Given the description of an element on the screen output the (x, y) to click on. 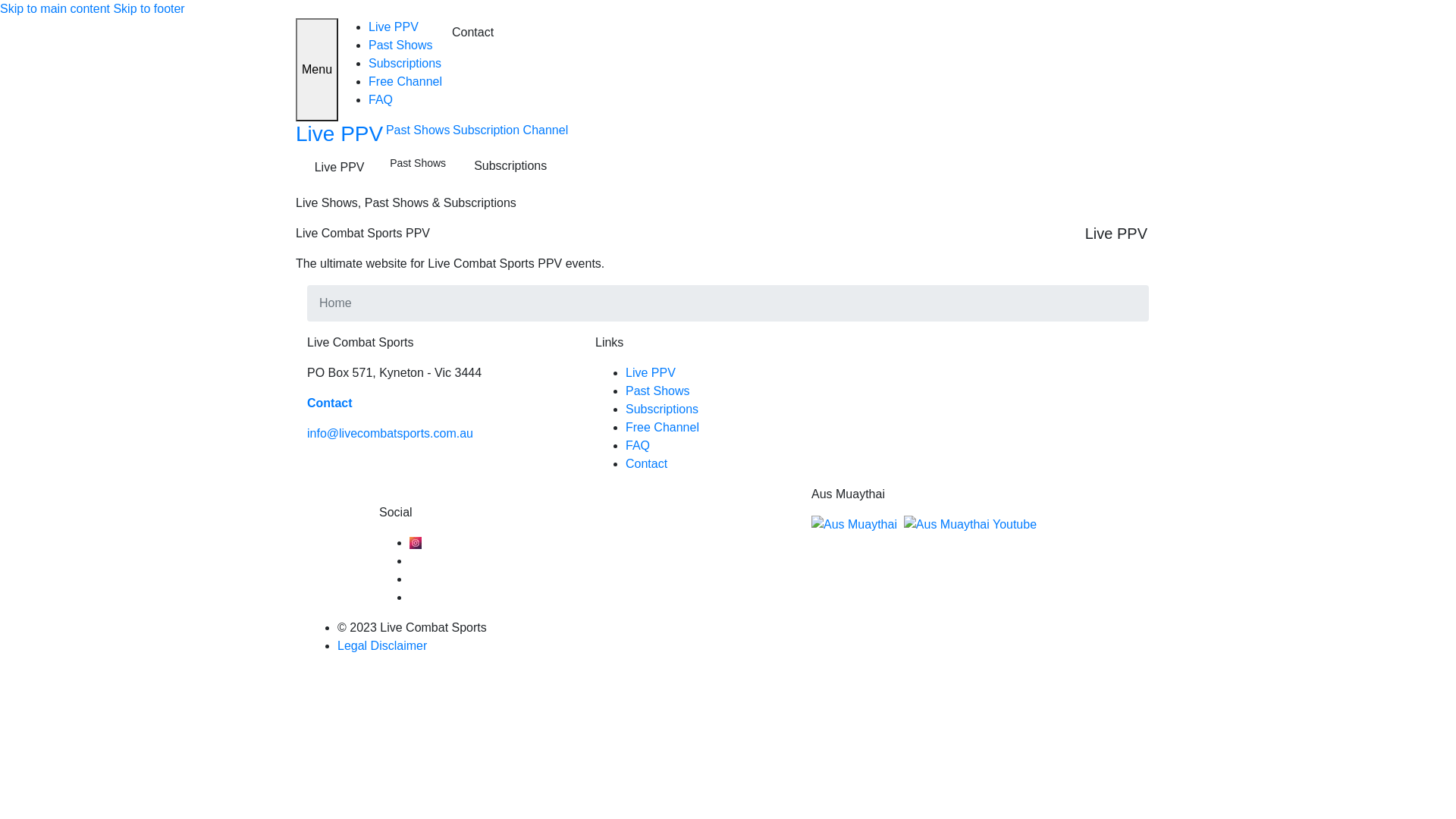
FAQ Element type: text (380, 99)
Live PPV Element type: text (650, 372)
Free Channel Element type: text (405, 81)
Contact Element type: text (472, 32)
Menu Element type: text (316, 69)
Skip to main content Element type: text (54, 8)
Live PPV Element type: text (1116, 233)
Legal Disclaimer Element type: text (381, 645)
Past Shows
Past Shows Element type: text (417, 148)
Skip to footer Element type: text (148, 8)
Live PPV
Live PPV Element type: text (338, 151)
Contact Element type: text (329, 402)
Free Channel Element type: text (662, 426)
Past Shows Element type: text (400, 44)
Subscriptions Element type: text (661, 408)
Live PPV Element type: text (393, 26)
Past Shows Element type: text (657, 390)
Subscriptions Element type: text (404, 62)
FAQ Element type: text (637, 445)
info@livecombatsports.com.au Element type: text (390, 432)
Subscription Channel
Subscriptions Element type: text (509, 150)
Contact Element type: text (646, 463)
